Given the description of an element on the screen output the (x, y) to click on. 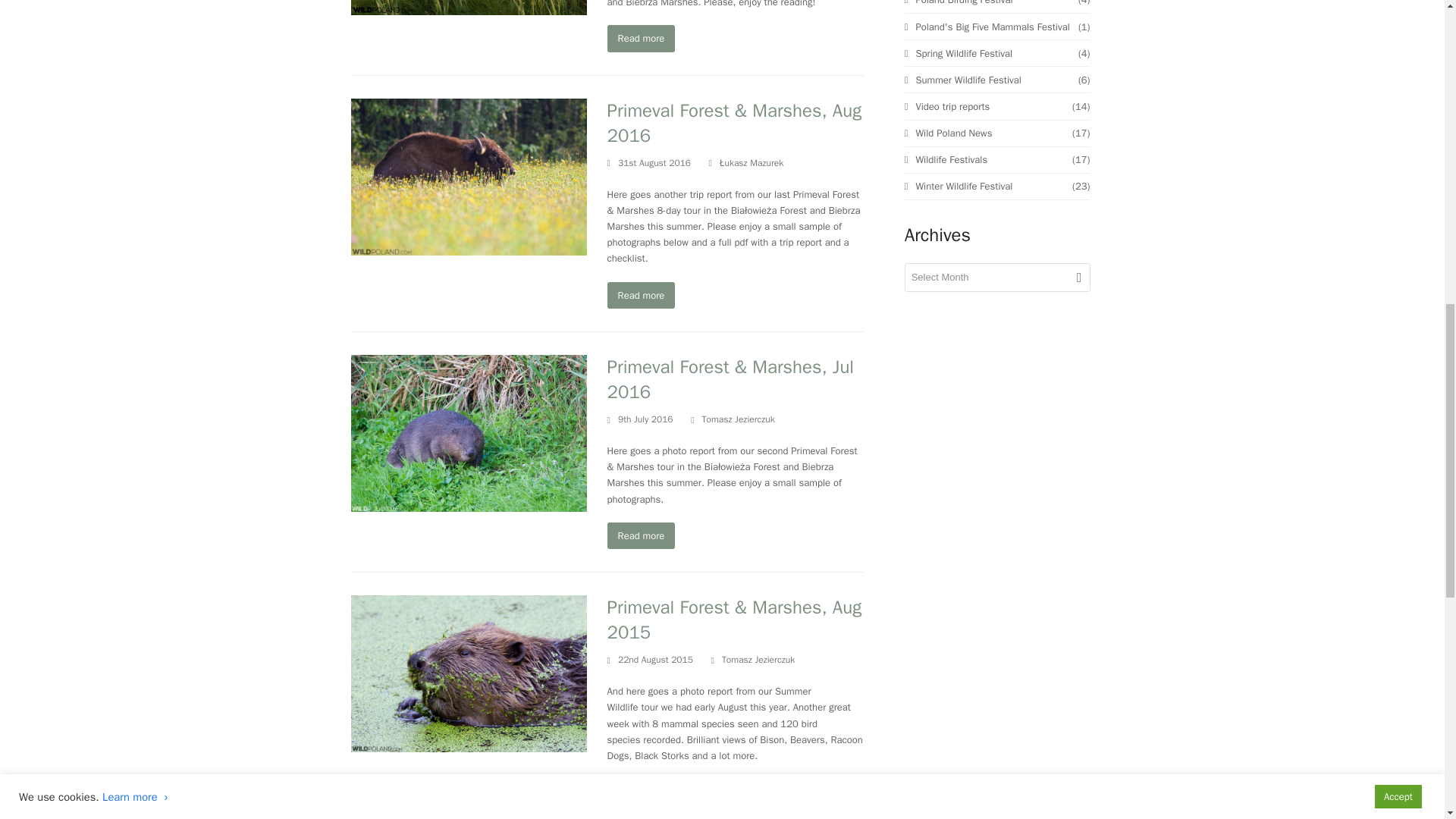
Posts by Tomasz Jezierczuk (737, 419)
Read more (641, 535)
Tomasz Jezierczuk (737, 419)
Read more (641, 294)
Read more (641, 38)
